Given the description of an element on the screen output the (x, y) to click on. 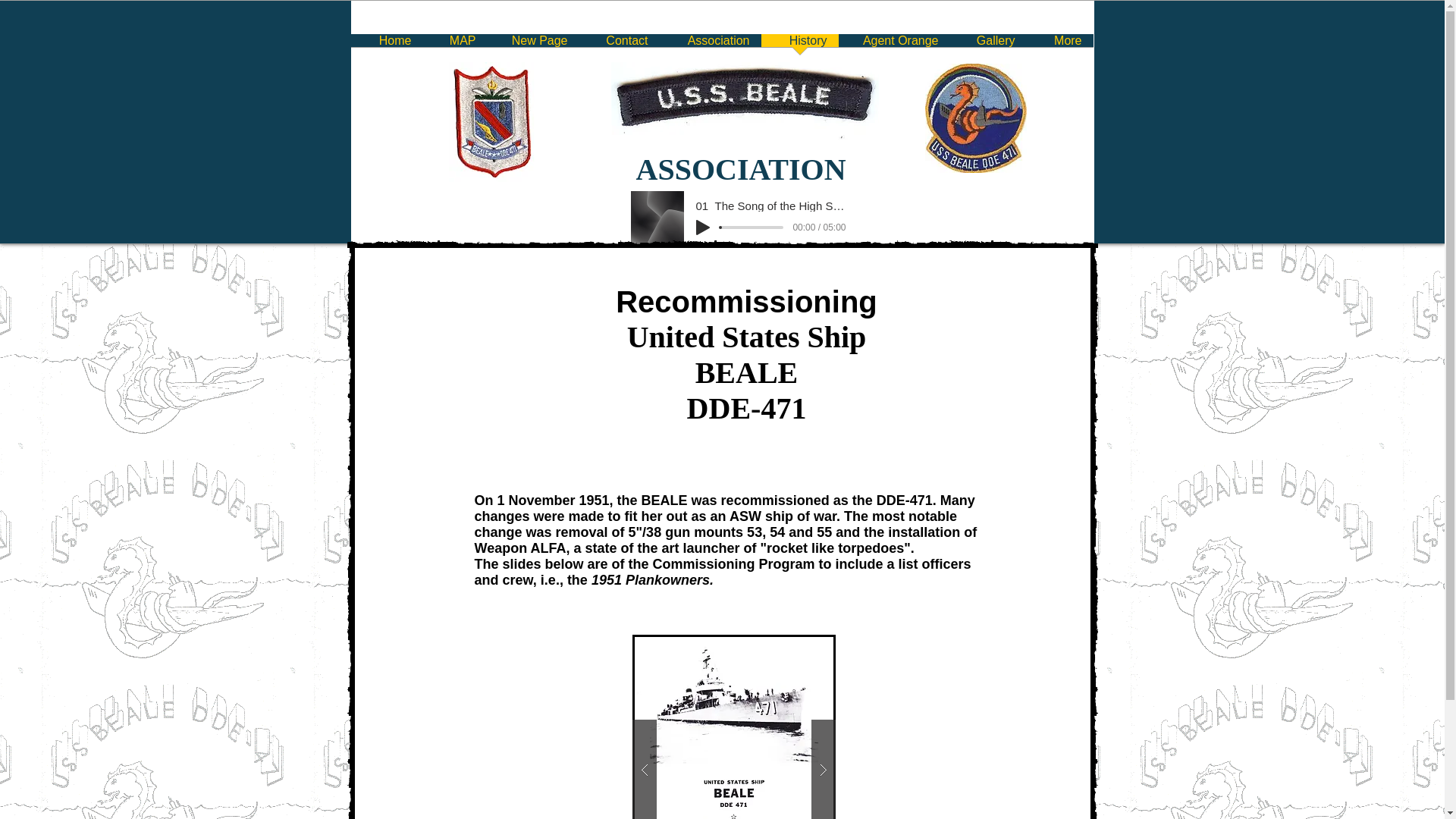
Home (386, 45)
Contact (619, 45)
New Page (532, 45)
0 (752, 227)
MAP (455, 45)
Association (710, 45)
